Given the description of an element on the screen output the (x, y) to click on. 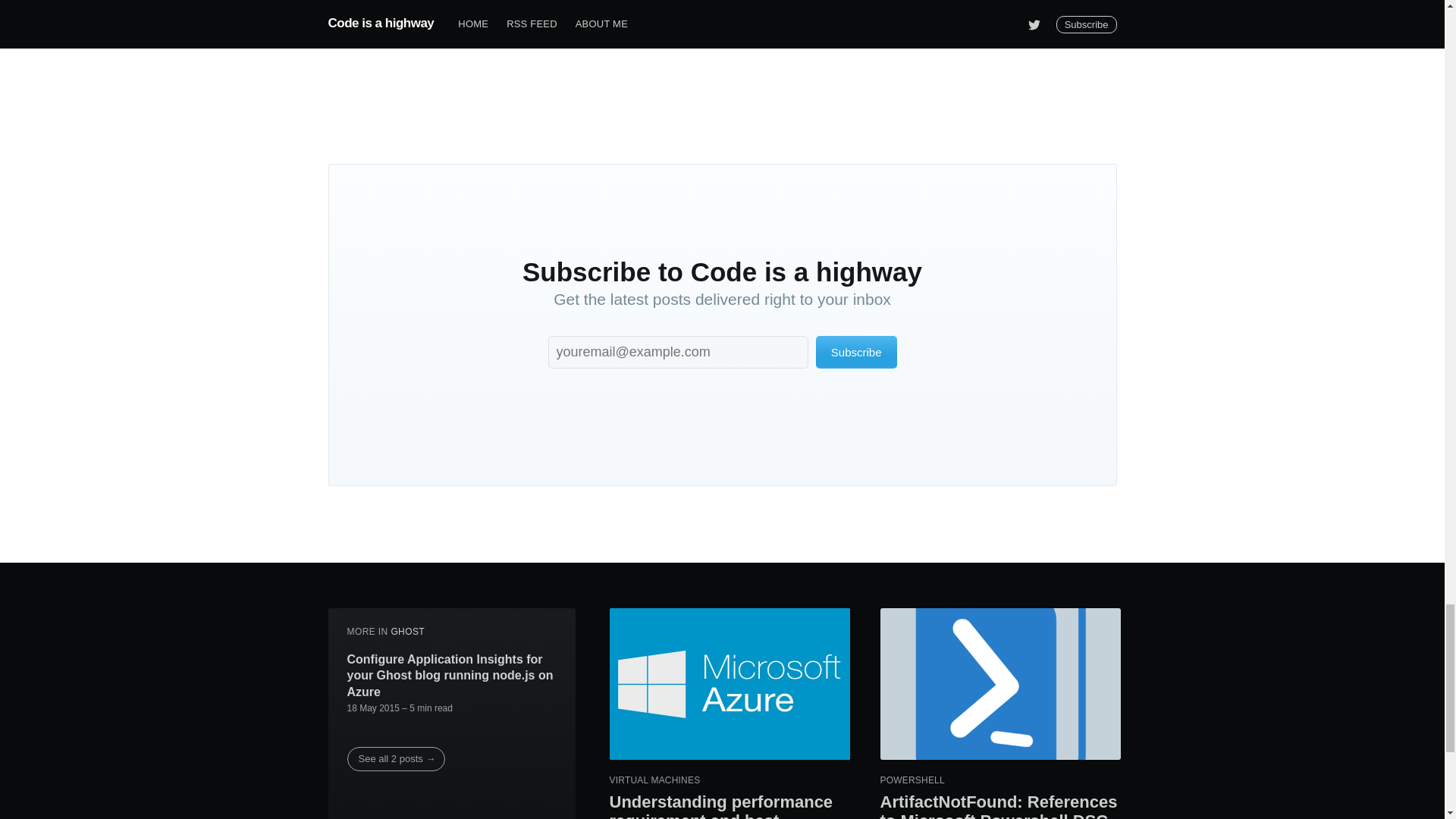
Subscribe (855, 351)
GHOST (407, 631)
What is Kudu? - Azure Web Sites Deployment with David Ebbo (675, 14)
